Given the description of an element on the screen output the (x, y) to click on. 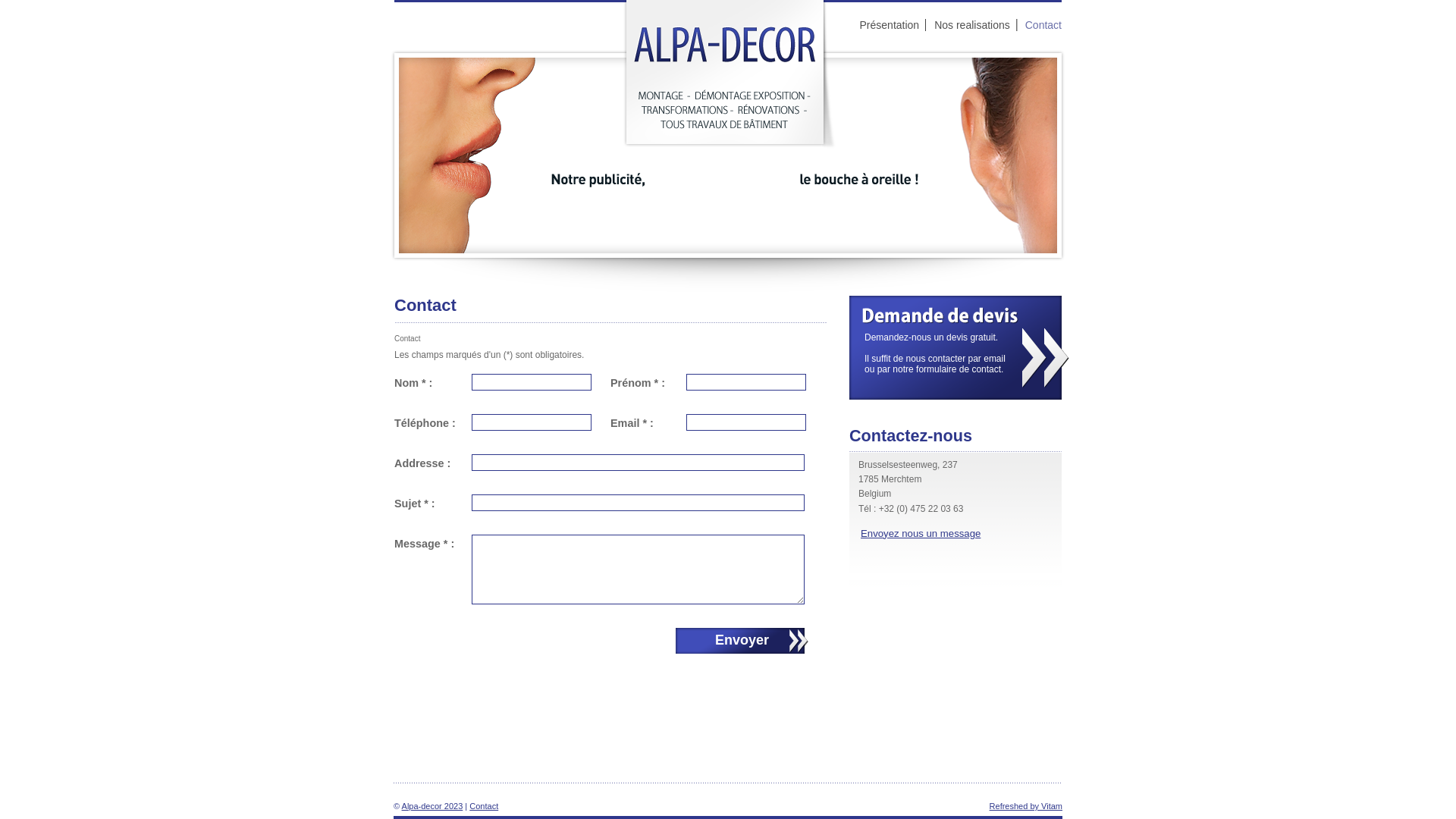
Envoyez nous un message Element type: text (920, 533)
Contact Element type: text (1039, 24)
Refreshed by Vitam Element type: text (1025, 805)
Nos realisations Element type: text (971, 24)
Contact Element type: text (483, 805)
Envoyer Element type: text (741, 640)
Alpa-decor 2023 Element type: text (432, 805)
